Given the description of an element on the screen output the (x, y) to click on. 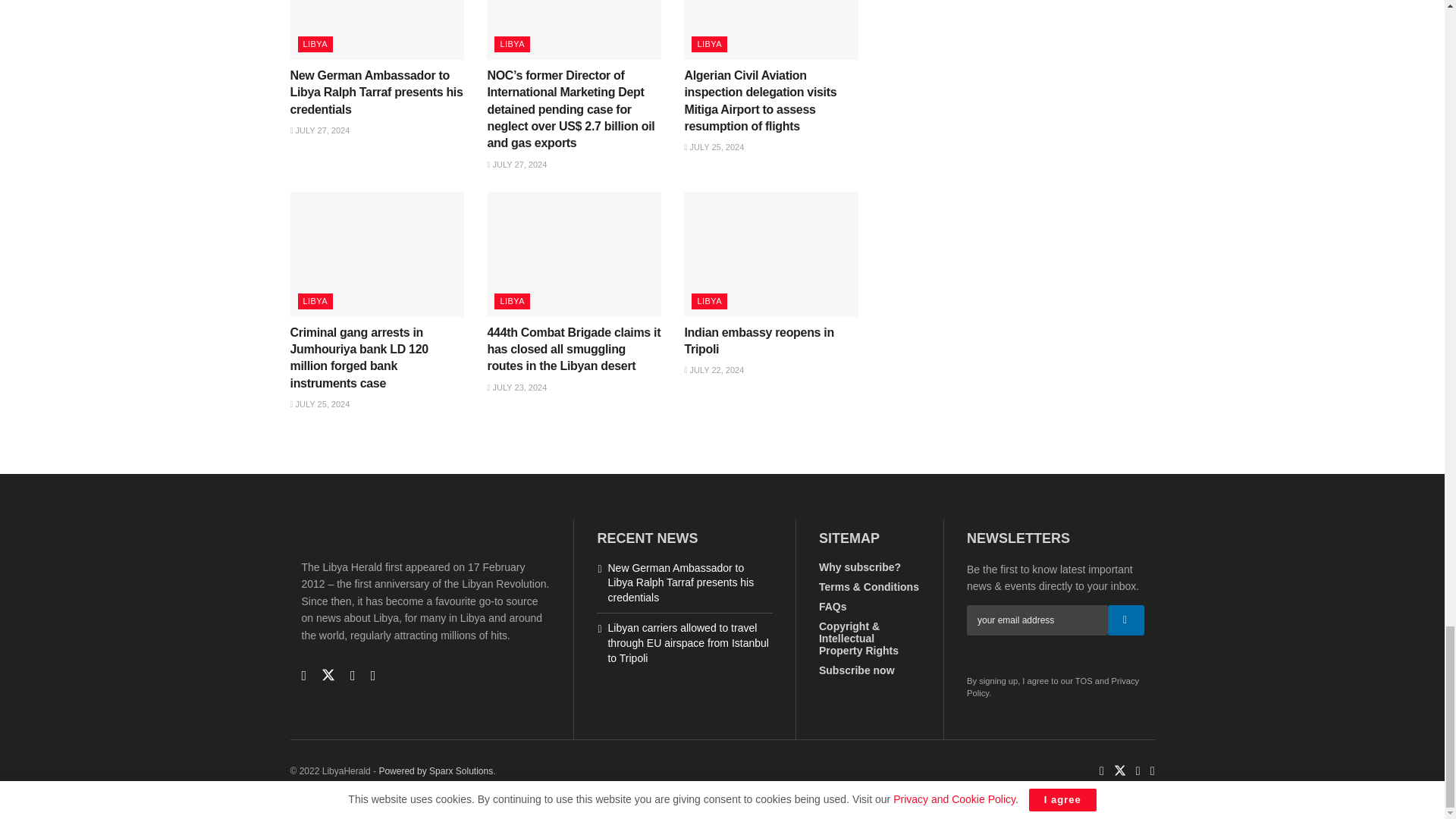
Sparx Solutions (435, 770)
